Given the description of an element on the screen output the (x, y) to click on. 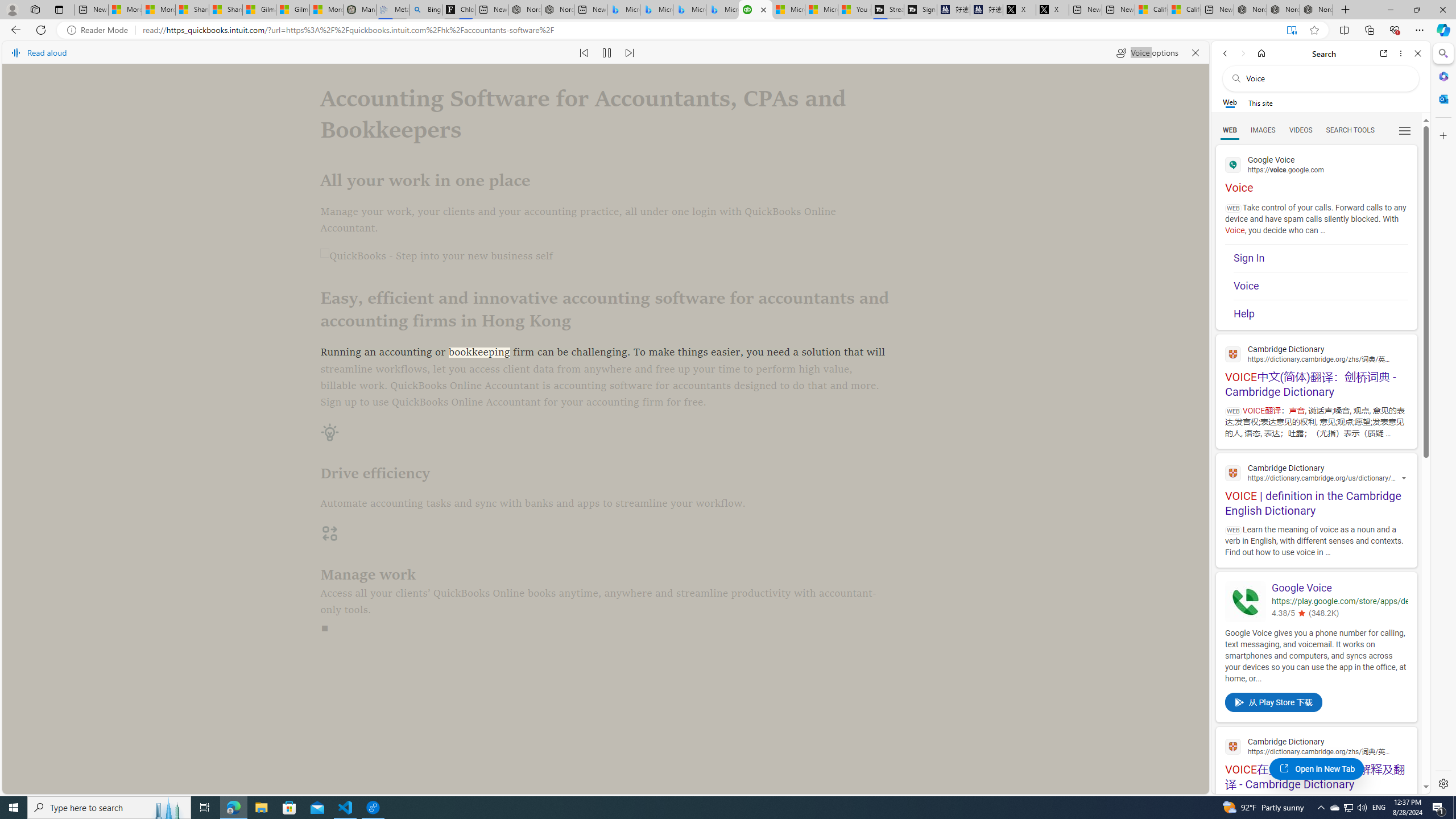
Google Voice (1339, 588)
Search Filter, WEB (1230, 129)
Manatee Mortality Statistics | FWC (359, 9)
Microsoft Bing Travel - Shangri-La Hotel Bangkok (722, 9)
Home (1261, 53)
Nordace - #1 Japanese Best-Seller - Siena Smart Backpack (557, 9)
Side bar (1443, 418)
Microsoft Bing Travel - Stays in Bangkok, Bangkok, Thailand (656, 9)
Chloe Sorvino (458, 9)
QuickBooks - Step into your new business self (605, 256)
